Given the description of an element on the screen output the (x, y) to click on. 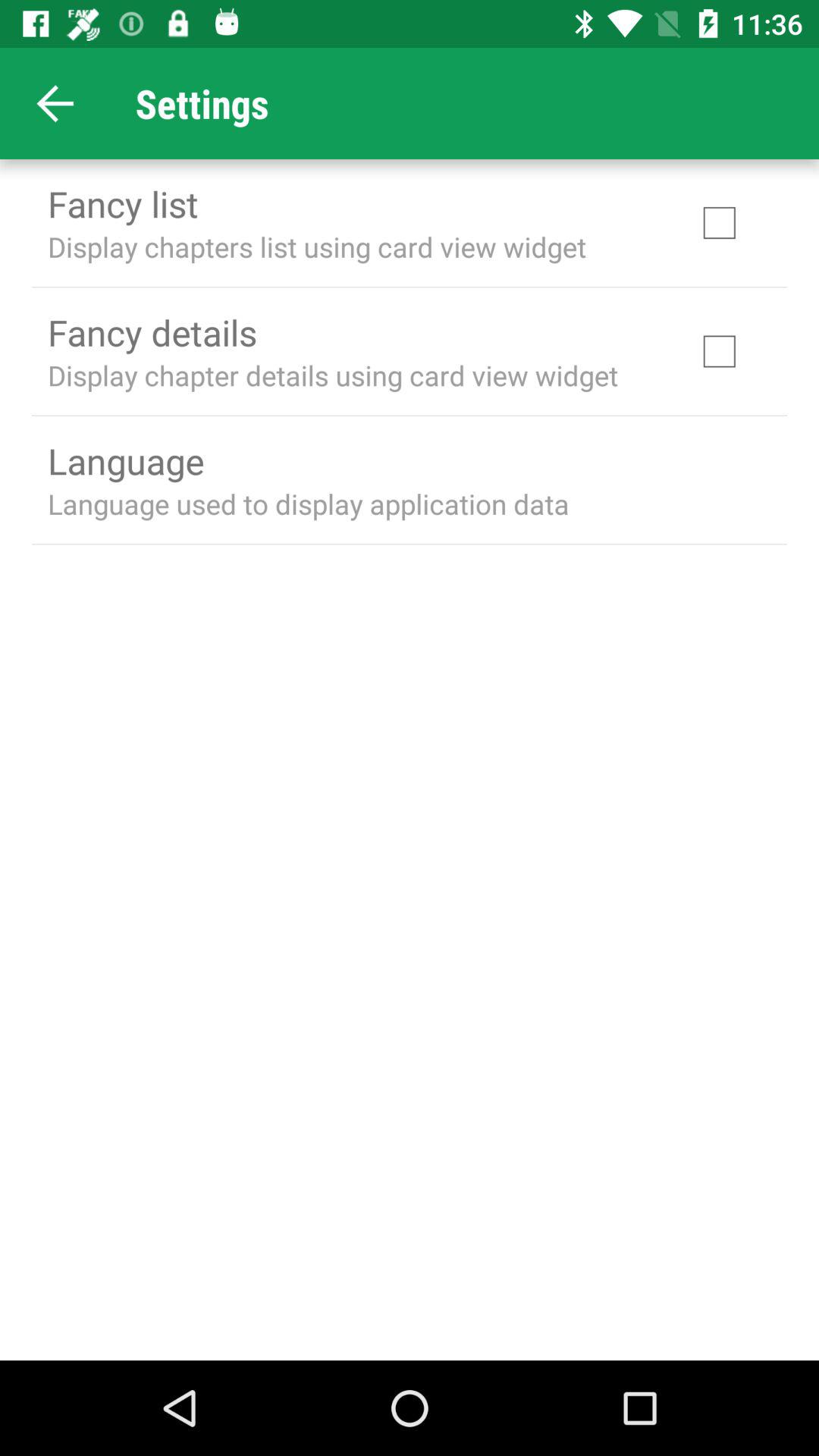
scroll to the display chapters list item (316, 246)
